Given the description of an element on the screen output the (x, y) to click on. 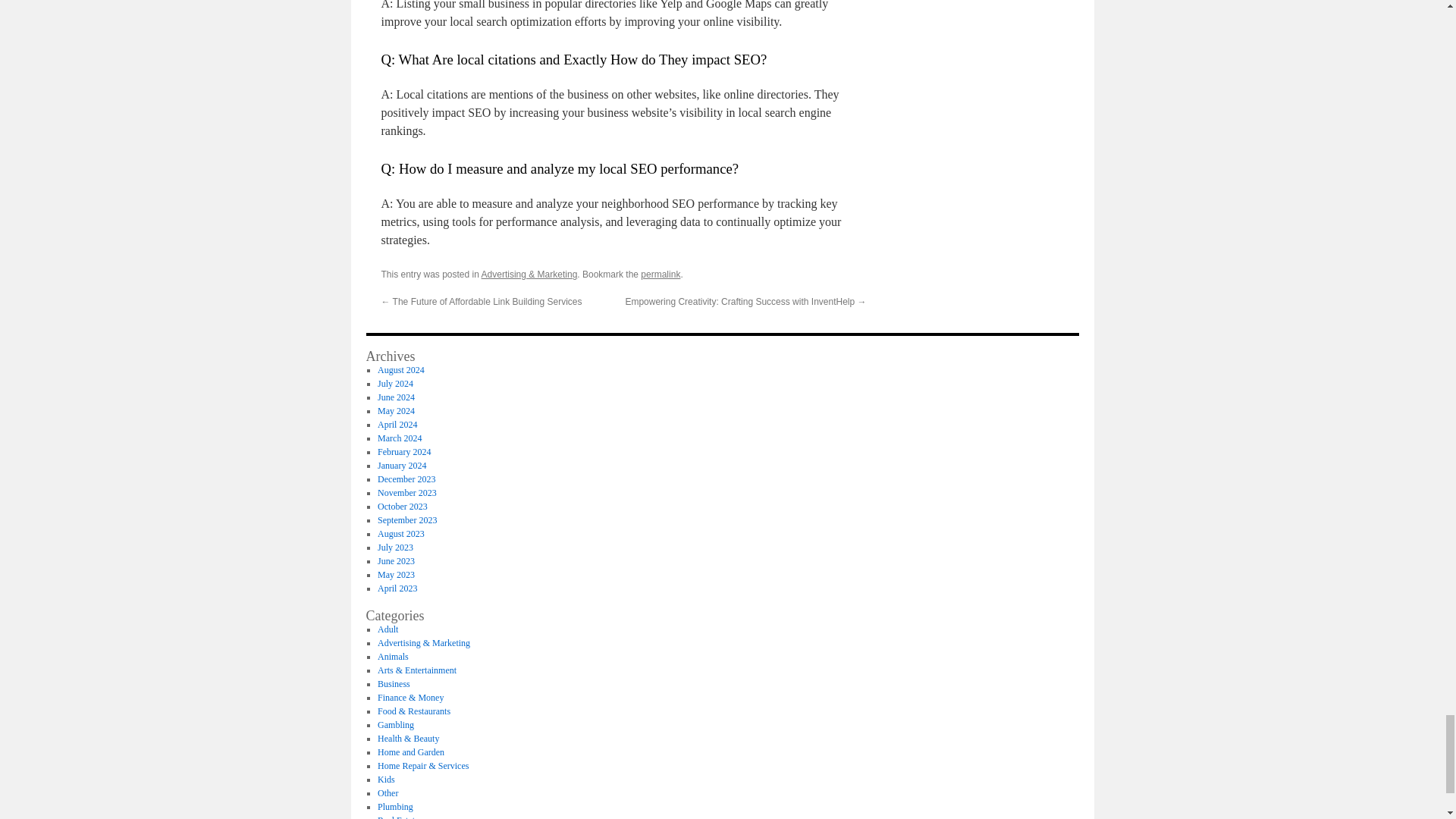
May 2024 (395, 410)
October 2023 (402, 506)
December 2023 (406, 479)
Adult (387, 629)
permalink (659, 274)
April 2023 (396, 588)
June 2023 (395, 561)
May 2023 (395, 574)
July 2024 (395, 383)
August 2023 (401, 533)
